Given the description of an element on the screen output the (x, y) to click on. 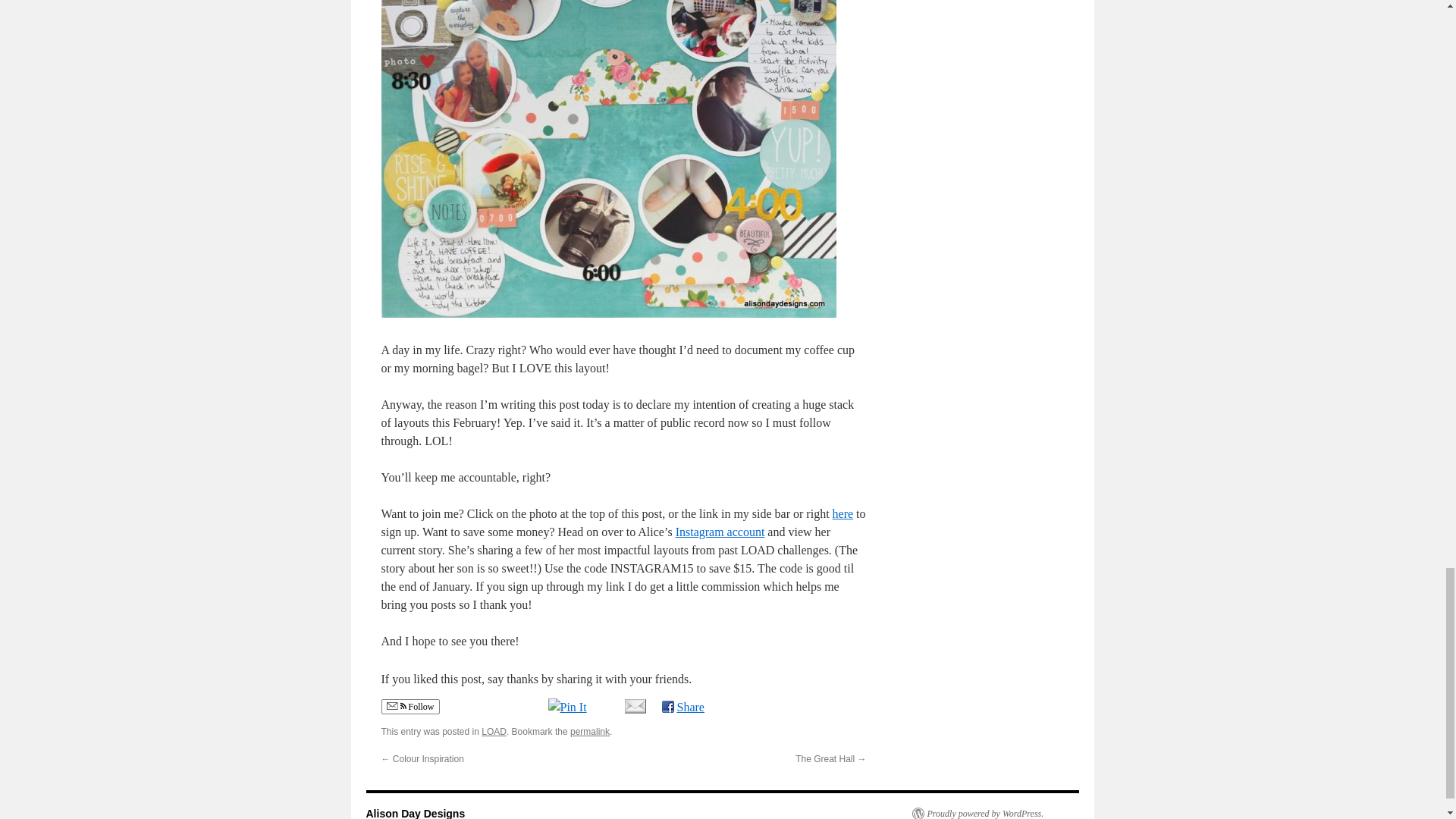
Share (682, 707)
permalink (590, 731)
Instagram account (720, 531)
Email (634, 705)
Share on Facebook (682, 707)
Email, RSS (396, 706)
here (842, 513)
LOAD (493, 731)
Follow (409, 706)
